Given the description of an element on the screen output the (x, y) to click on. 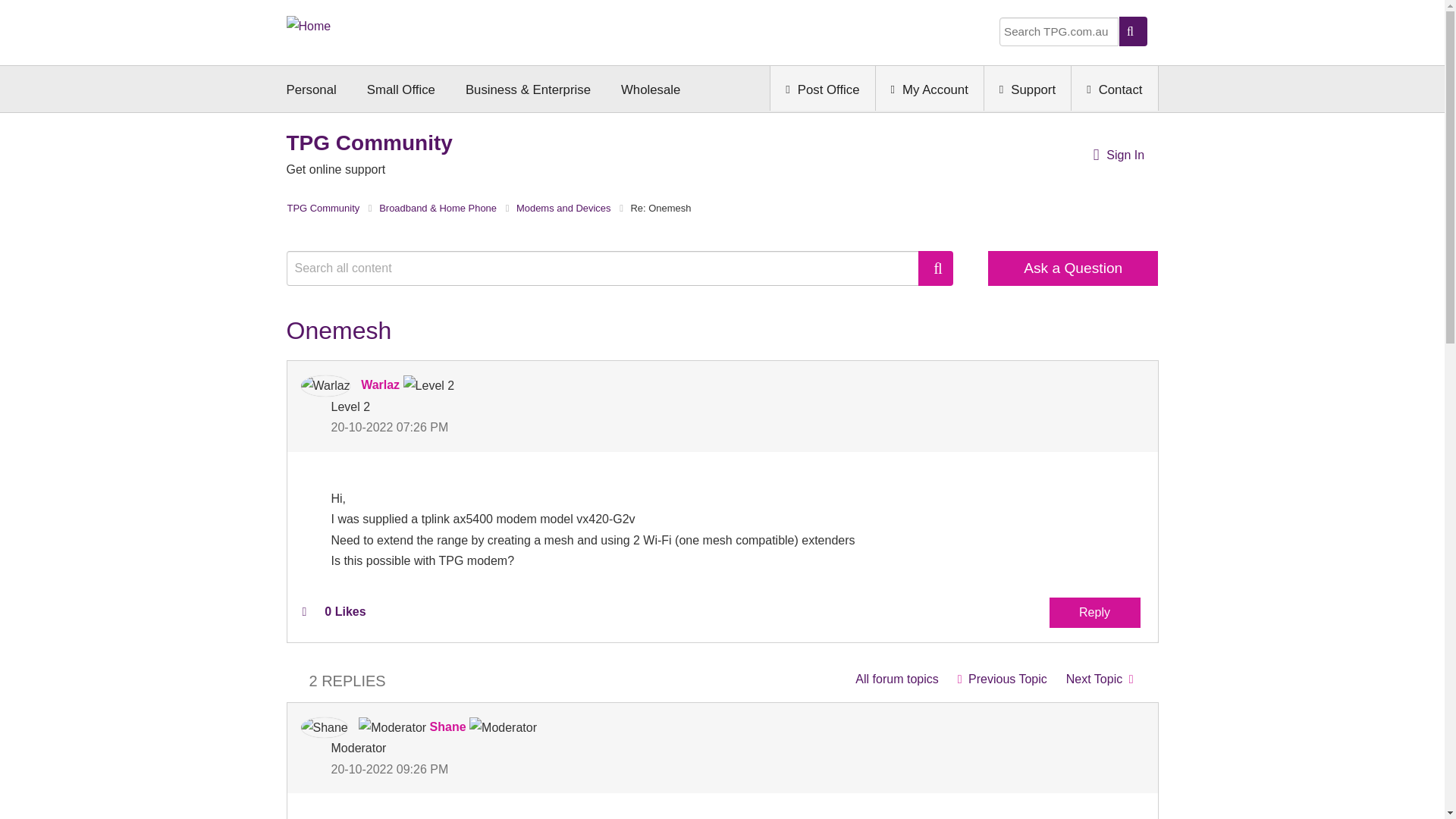
Level 2 (428, 385)
Warlaz (324, 385)
Shane (323, 727)
Search (610, 267)
Modems and Devices (896, 678)
Moderator (392, 727)
Search (935, 267)
Search (935, 267)
Home (308, 24)
Posted on (526, 426)
NBN HFC - Netgear Nighthawk Ax3000 - help - wont connect (1099, 678)
The total number of kudos this post has received. (344, 611)
